Given the description of an element on the screen output the (x, y) to click on. 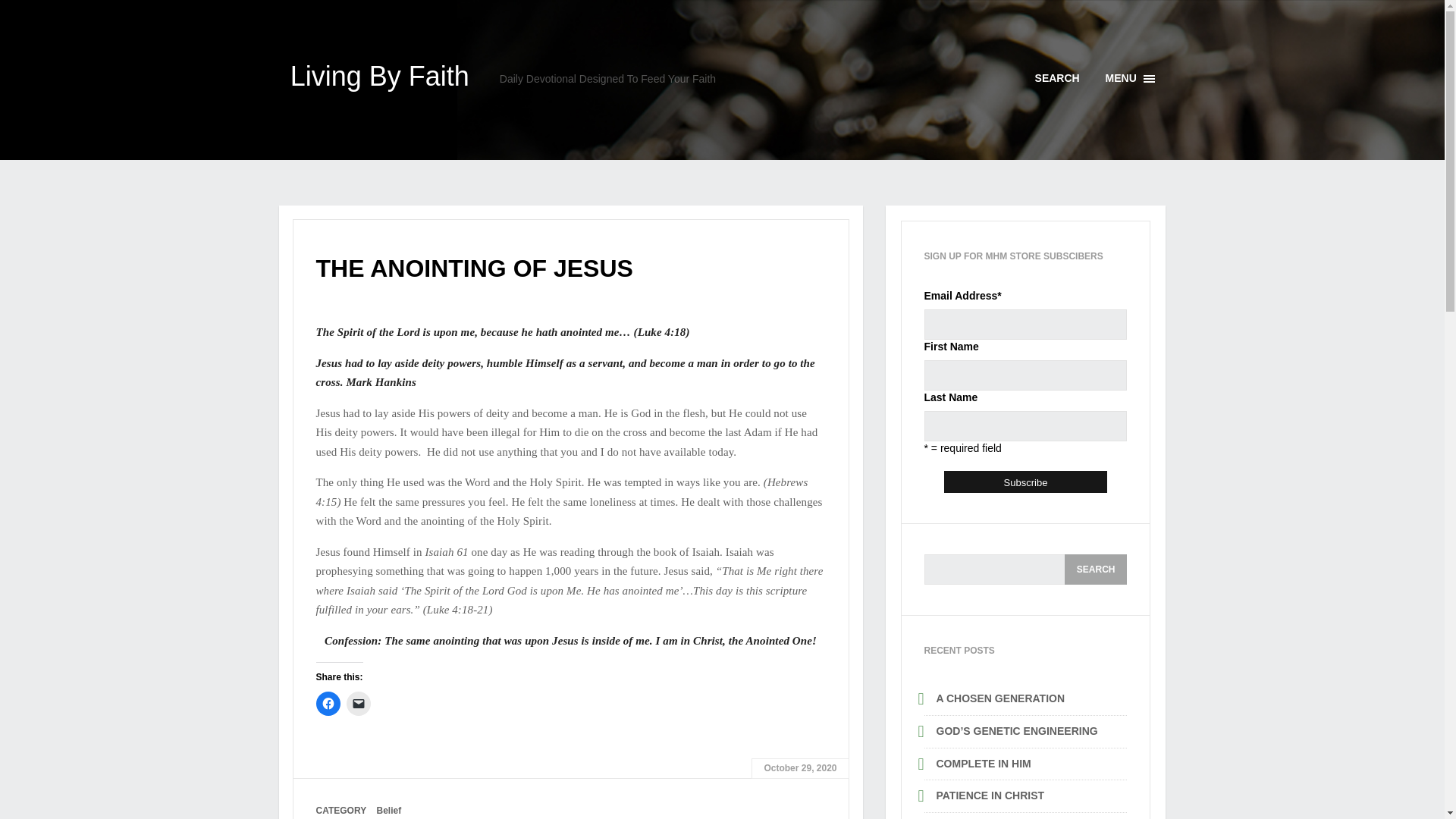
Living By Faith (378, 75)
Click to email a link to a friend (357, 703)
COMPLETE IN HIM (983, 762)
SEARCH (1057, 78)
PATIENCE IN CHRIST (989, 795)
A CHOSEN GENERATION (1000, 698)
SEARCH (1129, 78)
Subscribe (1095, 569)
Belief (1024, 481)
Subscribe (389, 810)
SEARCH (1024, 481)
SEARCH (1095, 569)
Click to share on Facebook (1095, 569)
